Given the description of an element on the screen output the (x, y) to click on. 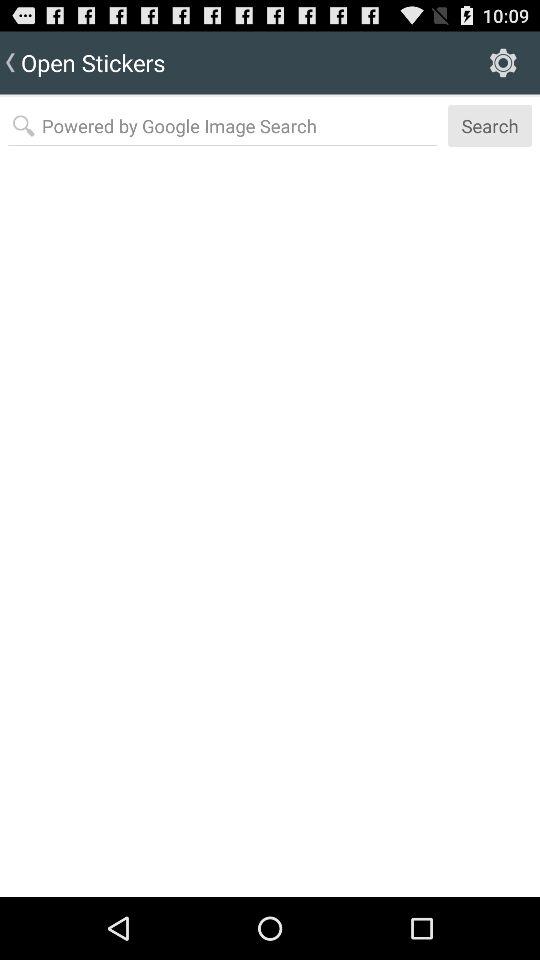
select the button above the search (503, 62)
